Given the description of an element on the screen output the (x, y) to click on. 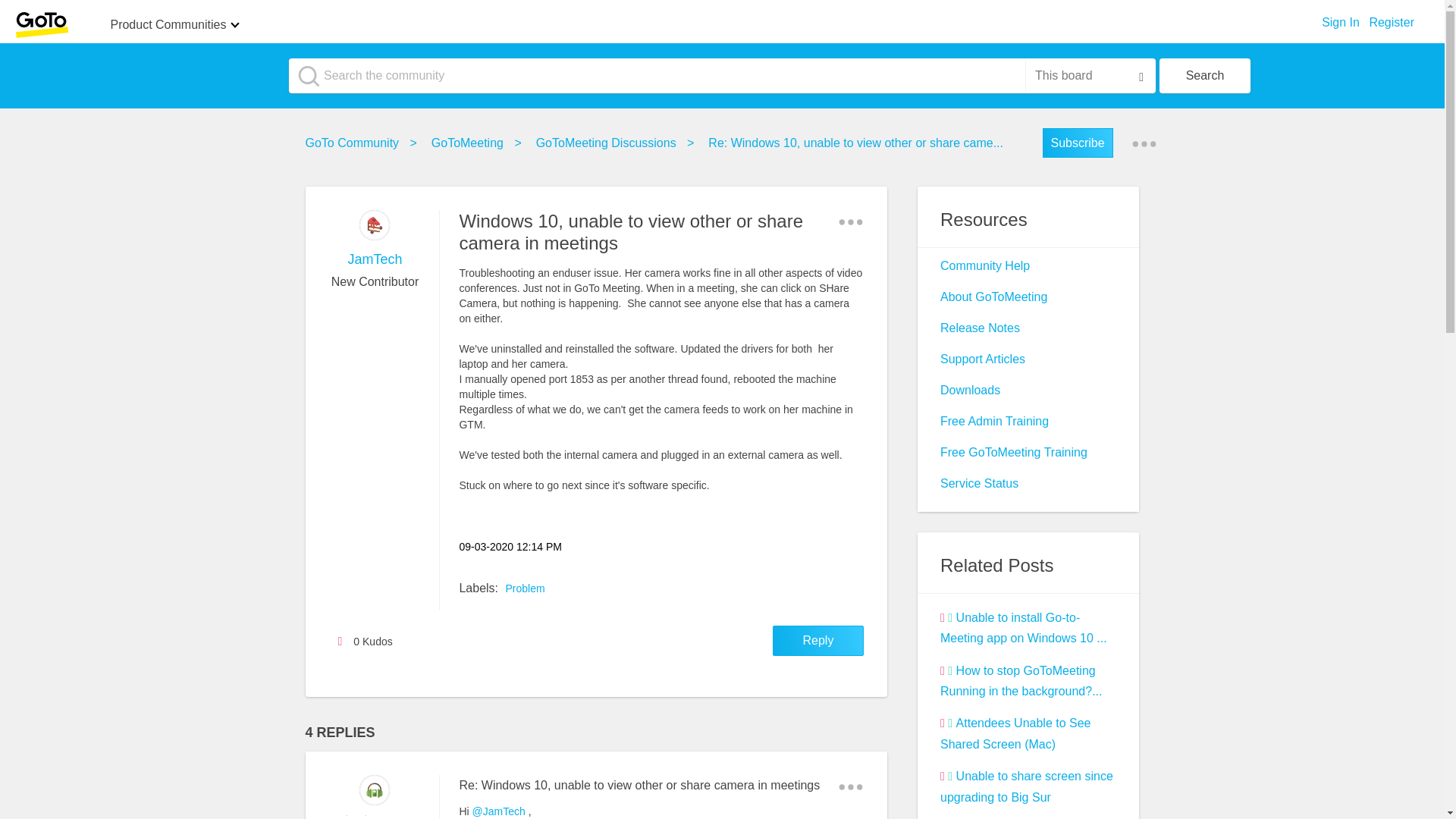
JamTech (374, 224)
GoToMeeting Discussions (609, 142)
Reply (818, 640)
AshC (386, 817)
Problem (525, 588)
Sign In (1340, 18)
Search Granularity (1089, 75)
GoTo Community Home (41, 24)
Search (1204, 75)
Search the community (722, 75)
JamTech (374, 258)
Register (1390, 18)
Search (1204, 75)
GoTo Community (355, 142)
The total number of kudos this post has received. (378, 641)
